Given the description of an element on the screen output the (x, y) to click on. 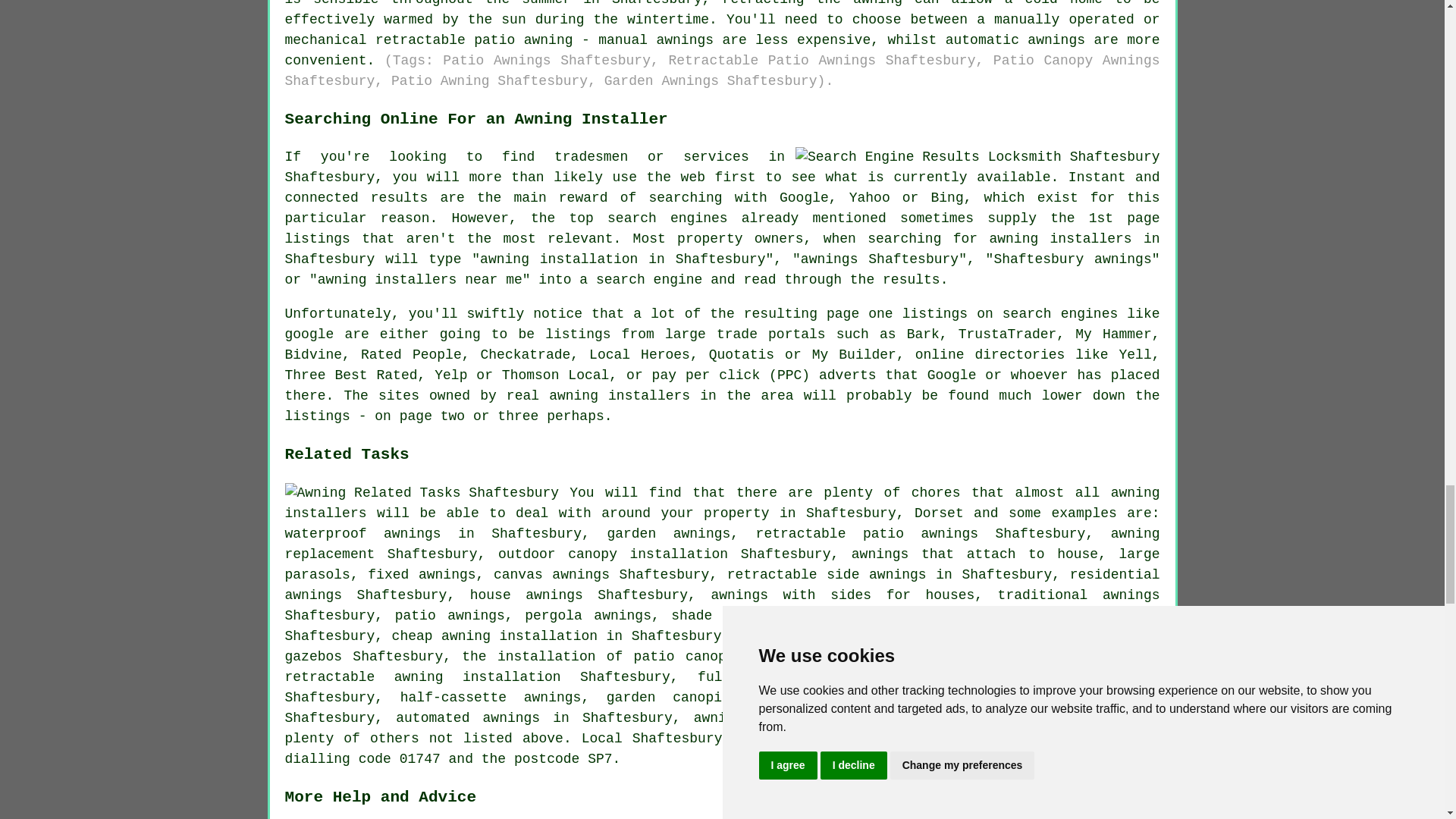
awnings (313, 595)
half-cassette awnings (490, 697)
awning installers (722, 502)
Search Engine Results Locksmith Shaftesbury (976, 157)
awning installation (845, 697)
Awning Related Tasks Shaftesbury (422, 493)
